Given the description of an element on the screen output the (x, y) to click on. 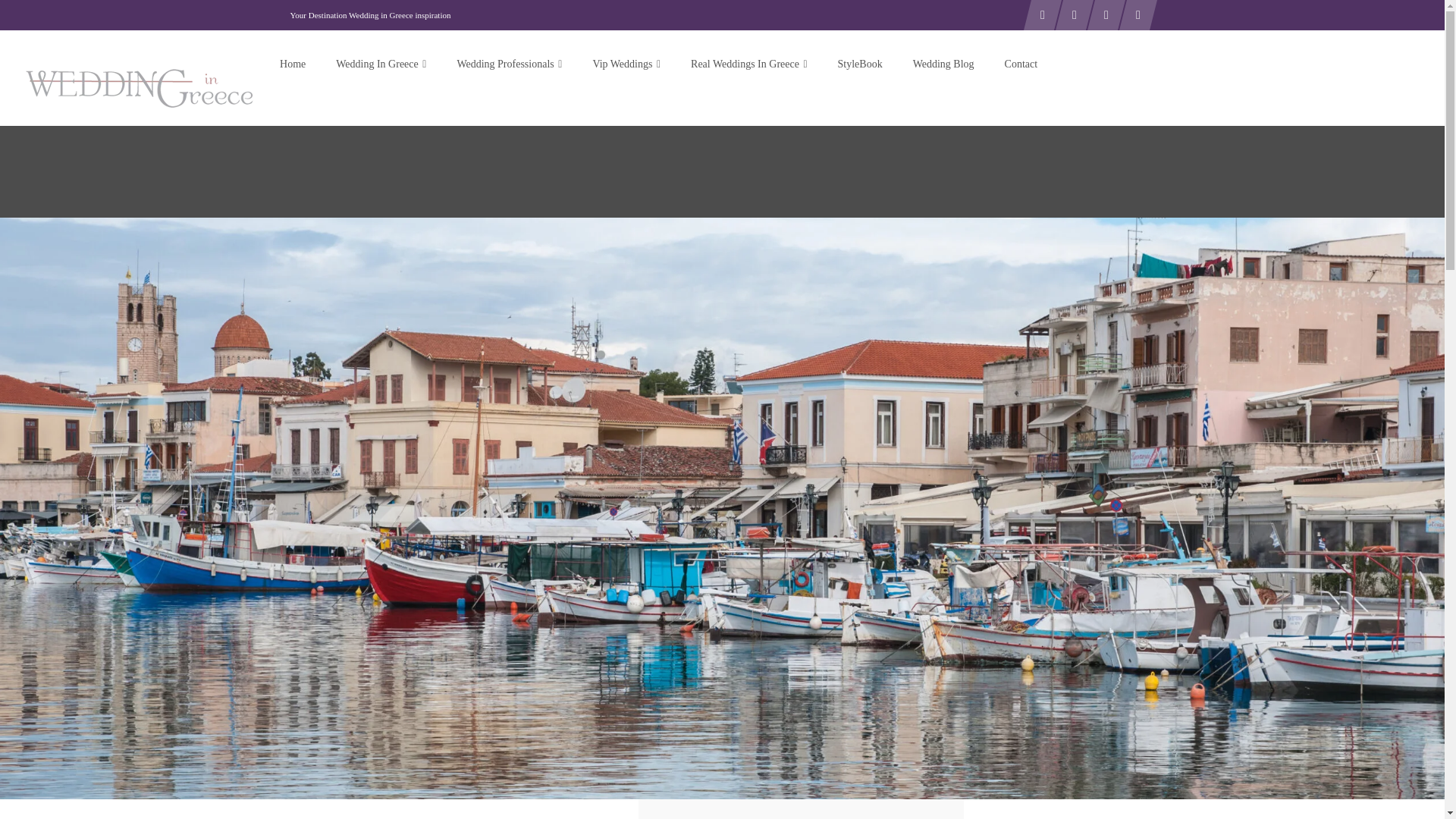
Wedding Professionals (508, 64)
Vip Weddings (625, 64)
Destination Wedding in Greece (380, 64)
Wedding In Greece (380, 64)
Wedding in Greece (292, 64)
Home (292, 64)
